Given the description of an element on the screen output the (x, y) to click on. 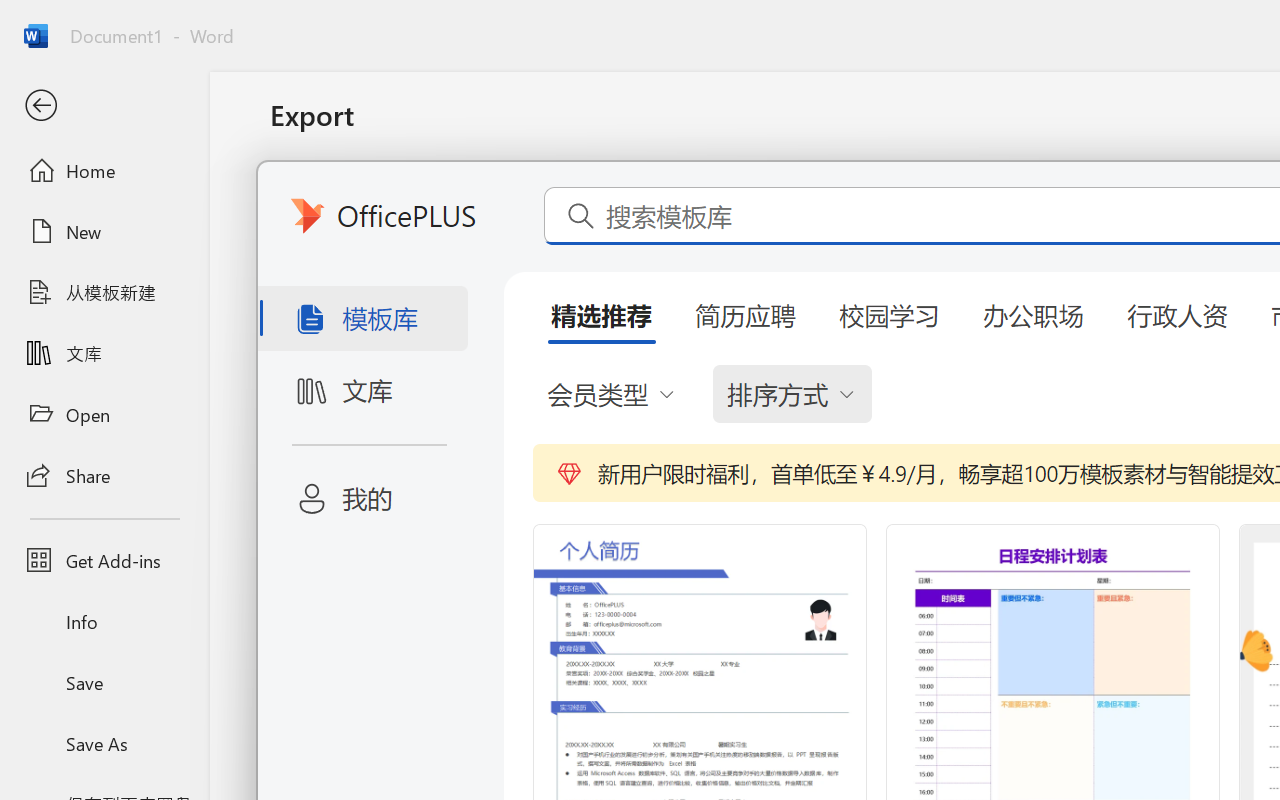
Back (104, 106)
Info (104, 621)
